Given the description of an element on the screen output the (x, y) to click on. 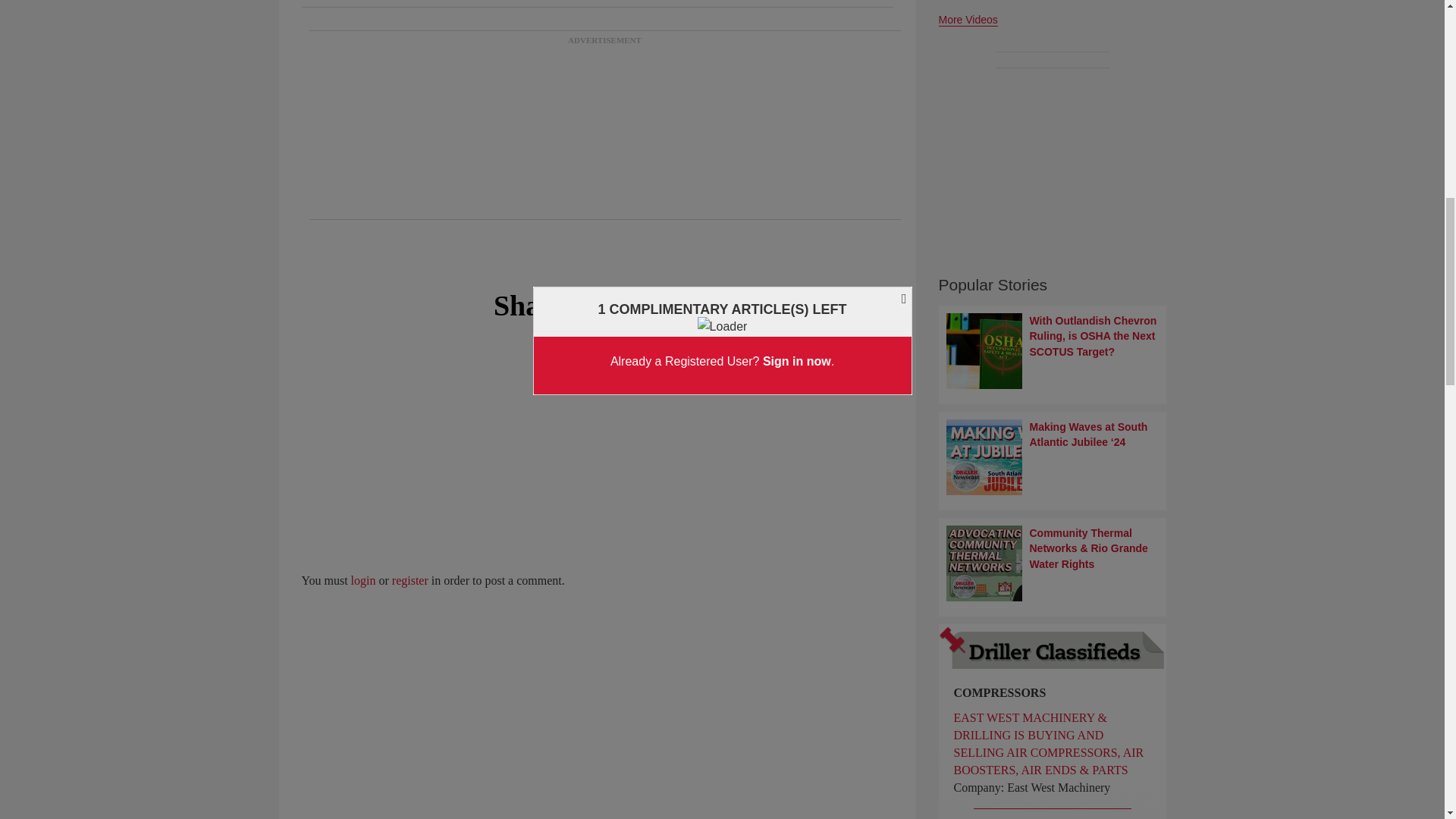
Interaction questions (597, 476)
